Given the description of an element on the screen output the (x, y) to click on. 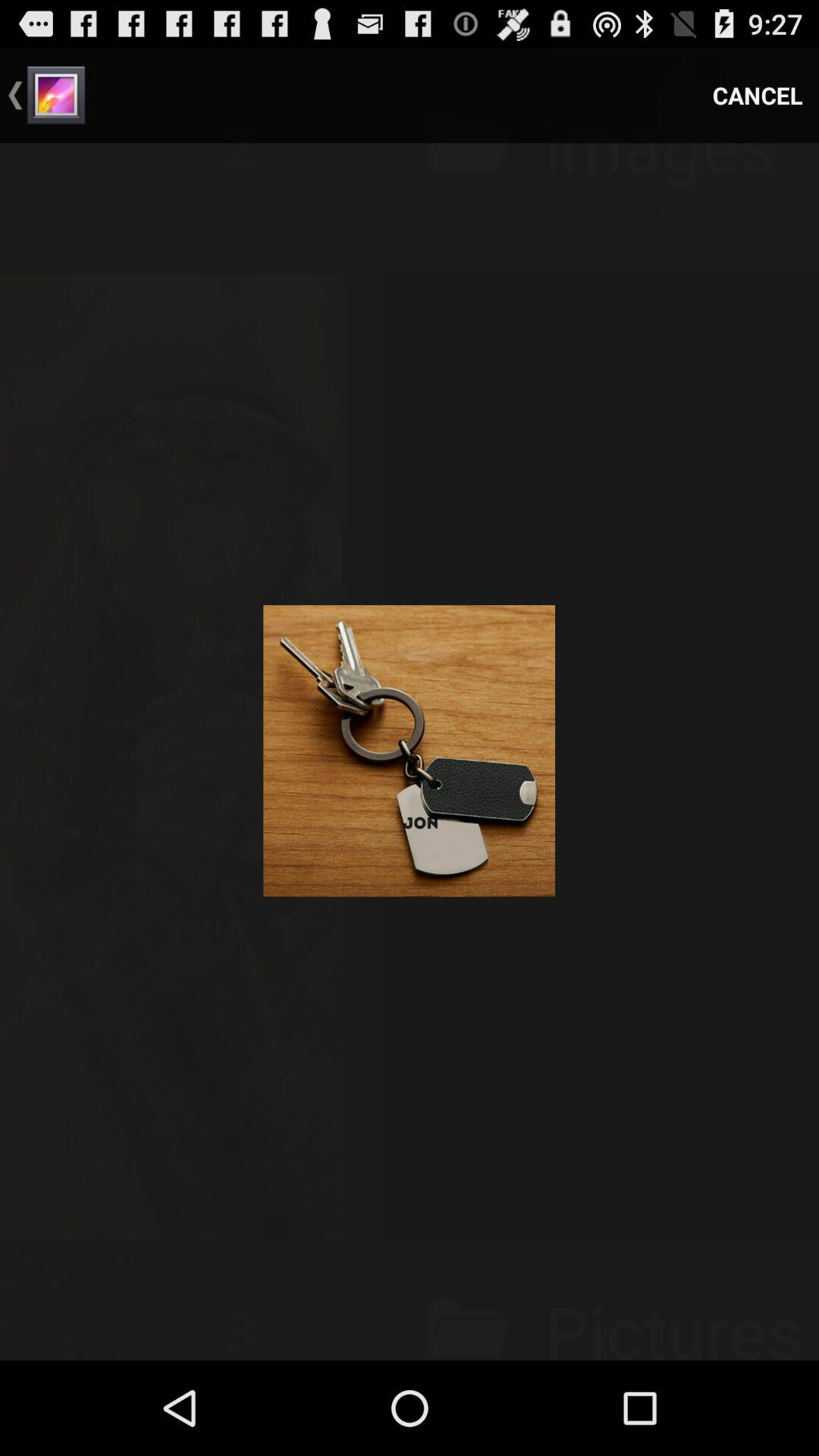
select the item at the top right corner (757, 95)
